Given the description of an element on the screen output the (x, y) to click on. 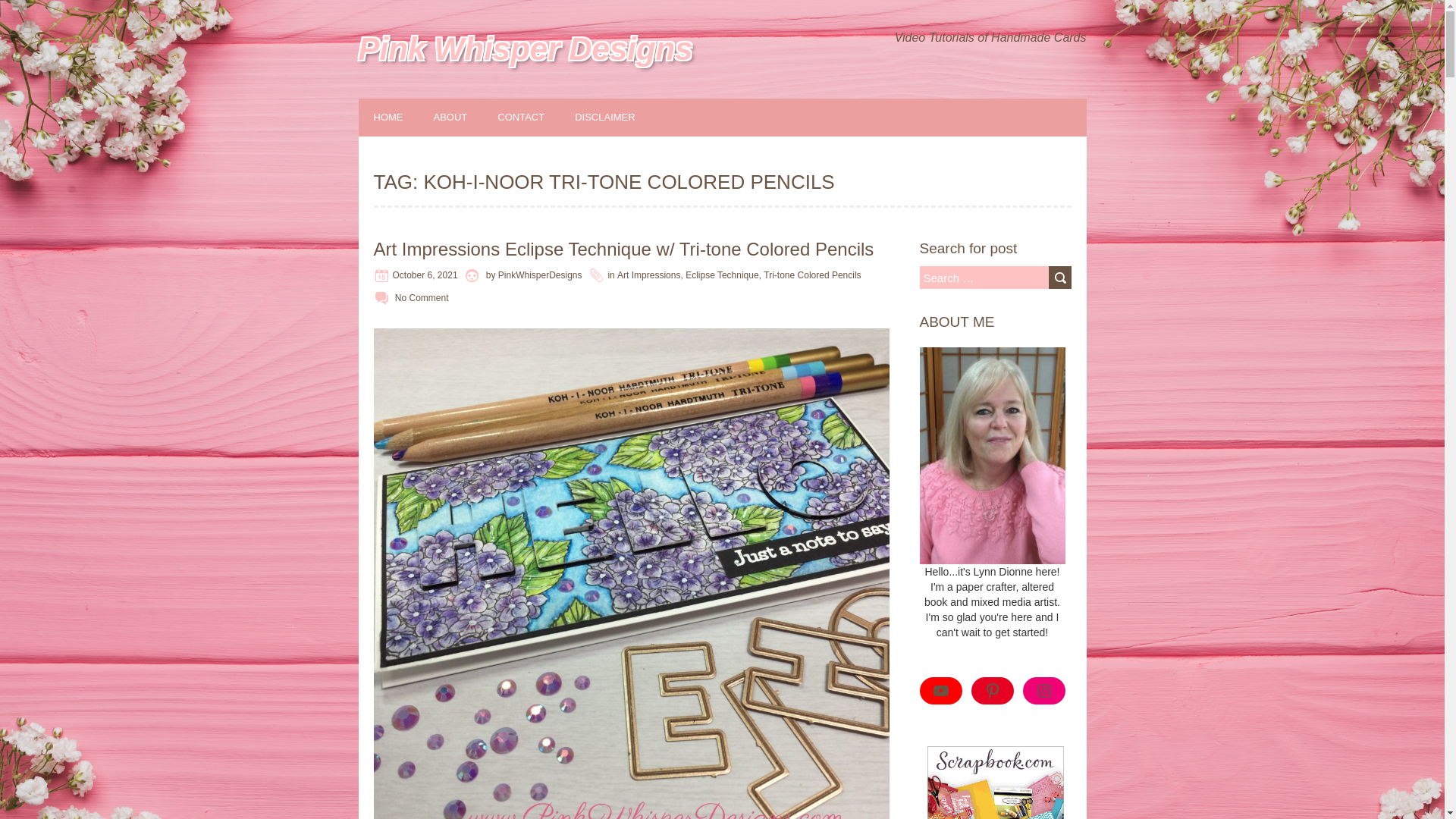
Pink Whisper Designs (525, 48)
Search (1059, 277)
CONTACT (535, 117)
Search (1059, 277)
Pinterest (992, 690)
Art Impressions (648, 275)
Eclipse Technique (721, 275)
YouTube (939, 690)
Tri-tone Colored Pencils (811, 275)
ABOUT (466, 117)
